Given the description of an element on the screen output the (x, y) to click on. 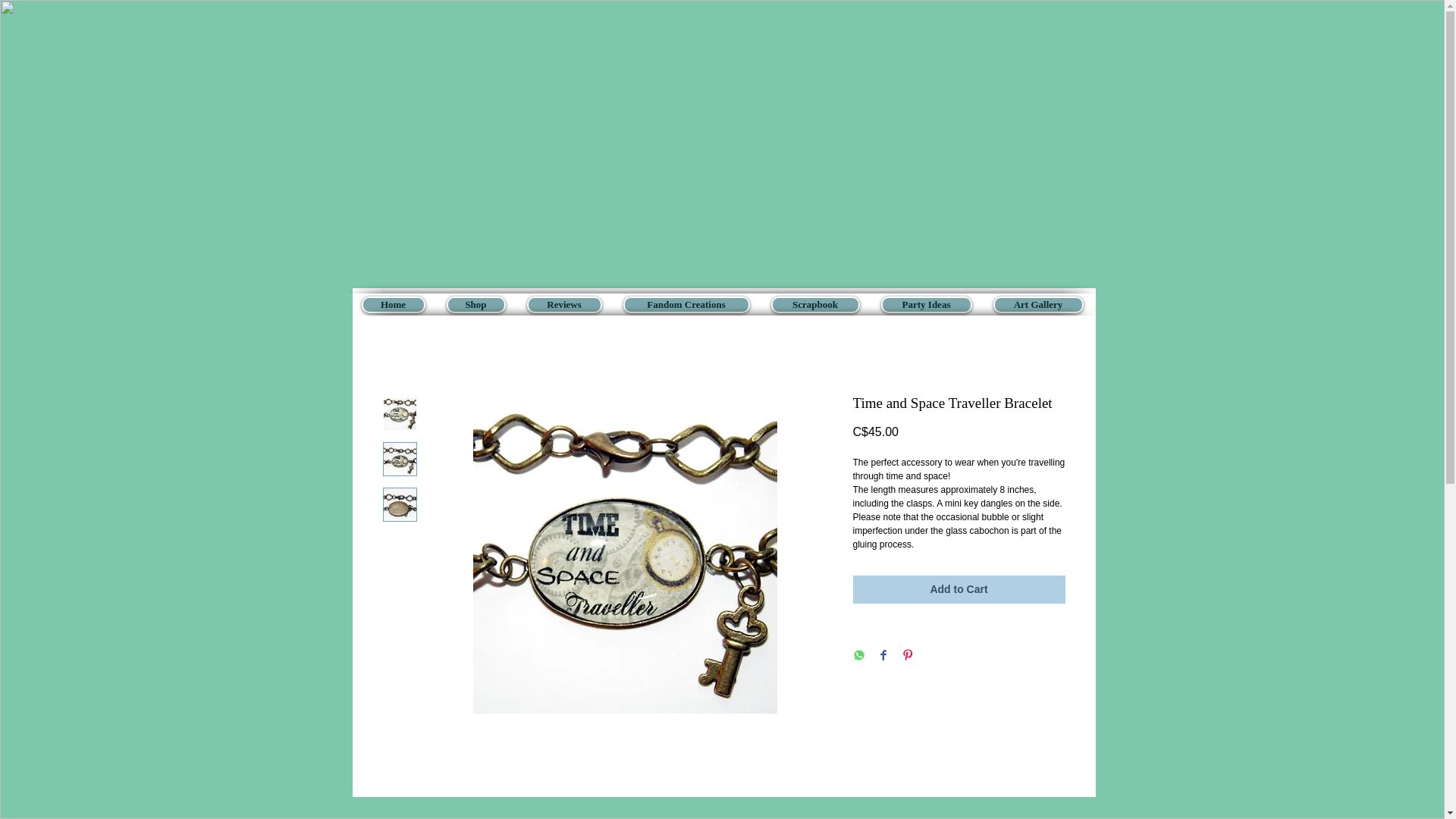
Reviews (563, 304)
Scrapbook (814, 304)
Art Gallery (1037, 304)
Add to Cart (957, 589)
Fandom Creations (686, 304)
Home (393, 304)
